Given the description of an element on the screen output the (x, y) to click on. 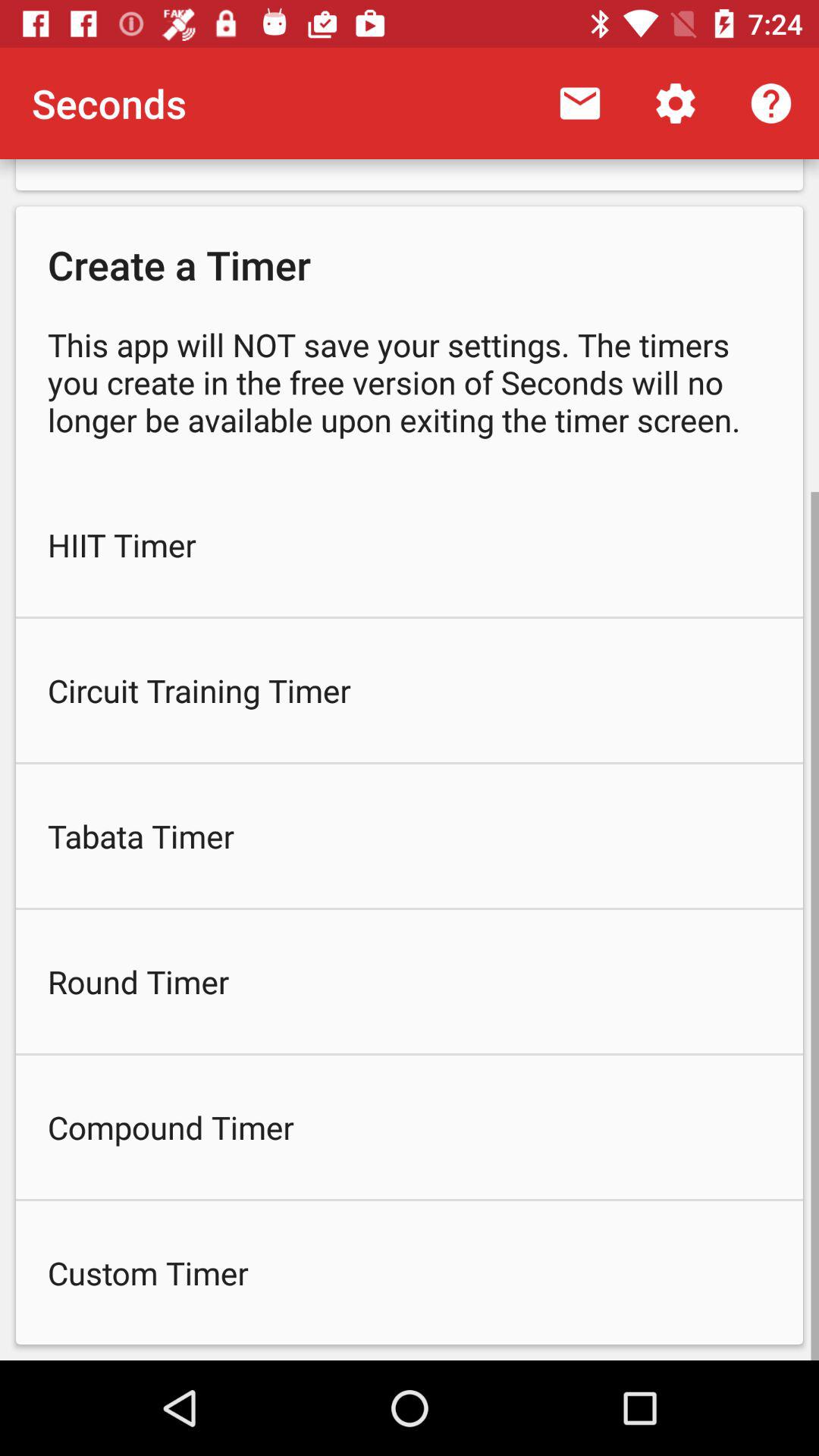
open the circuit training timer icon (409, 690)
